Given the description of an element on the screen output the (x, y) to click on. 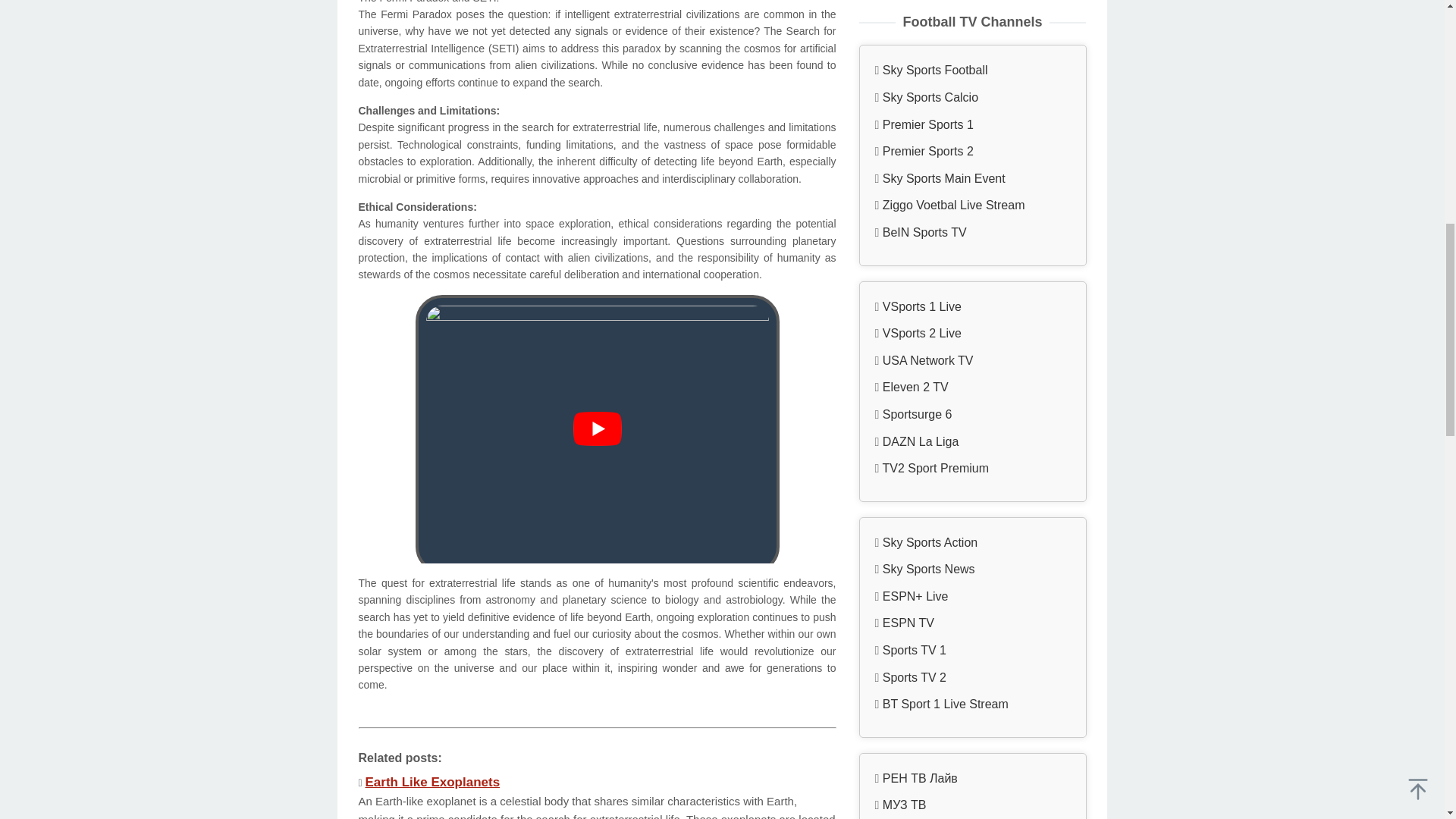
Earth Like Exoplanets (432, 781)
15.00 (972, 418)
Earth Like Exoplanets (432, 781)
PayPal Donate (972, 460)
